Given the description of an element on the screen output the (x, y) to click on. 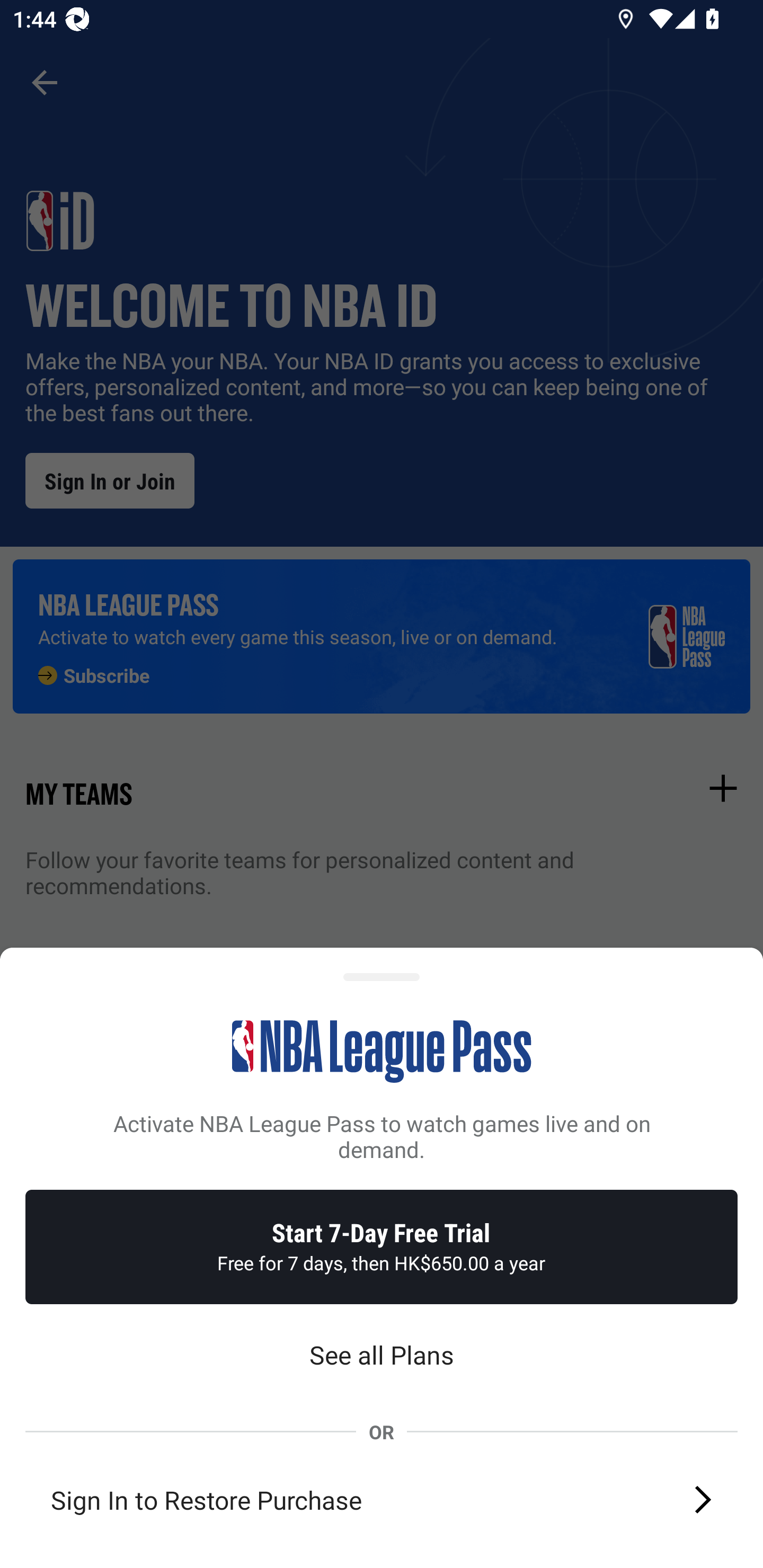
See all Plans (381, 1355)
Sign In to Restore Purchase (381, 1499)
